Given the description of an element on the screen output the (x, y) to click on. 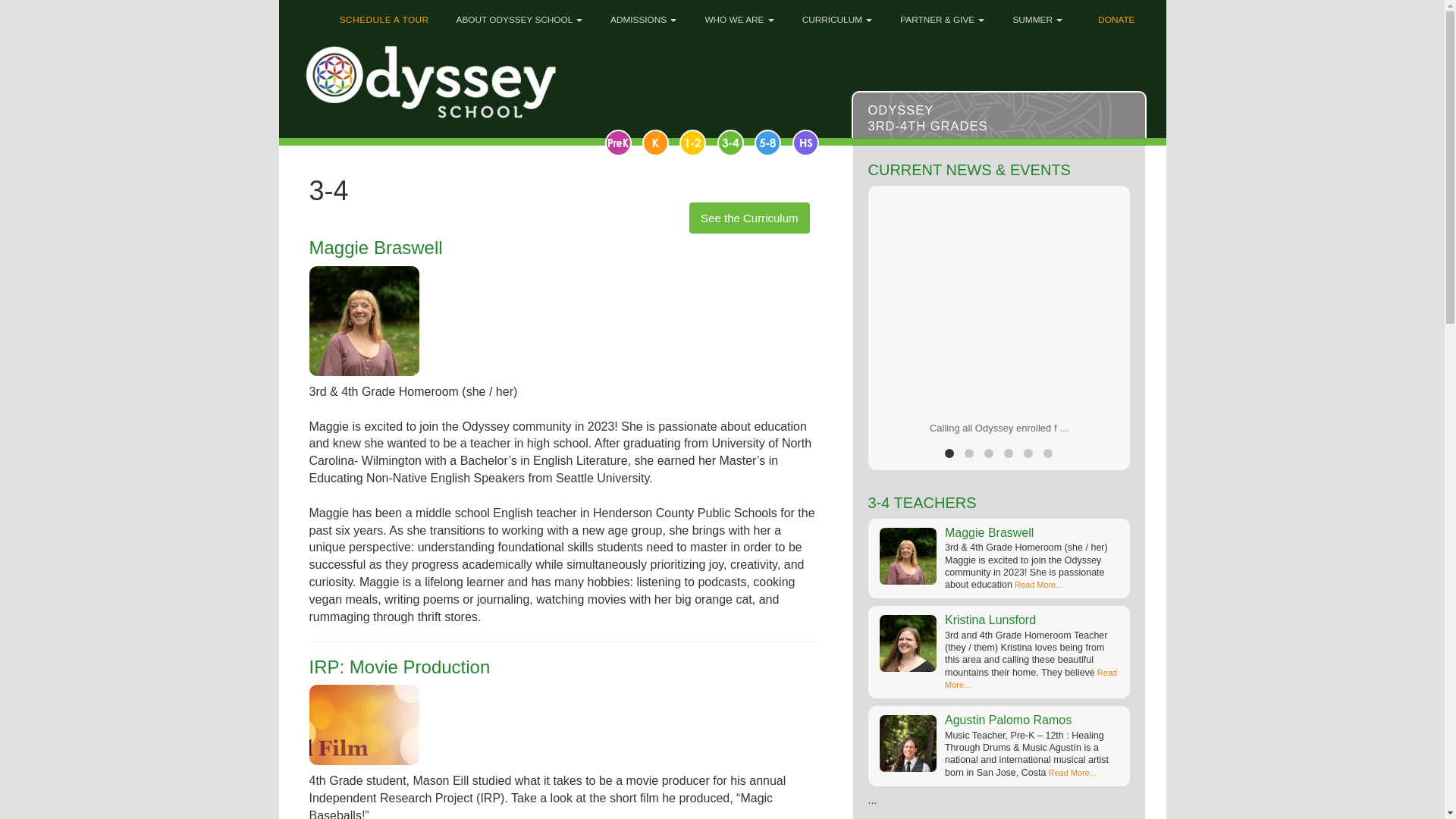
Schedule a Tour (379, 15)
About Odyssey School (517, 15)
ADMISSIONS (641, 15)
SCHEDULE A TOUR (379, 15)
WHO WE ARE (737, 15)
CURRICULUM (835, 15)
ABOUT ODYSSEY SCHOOL (517, 15)
